Given the description of an element on the screen output the (x, y) to click on. 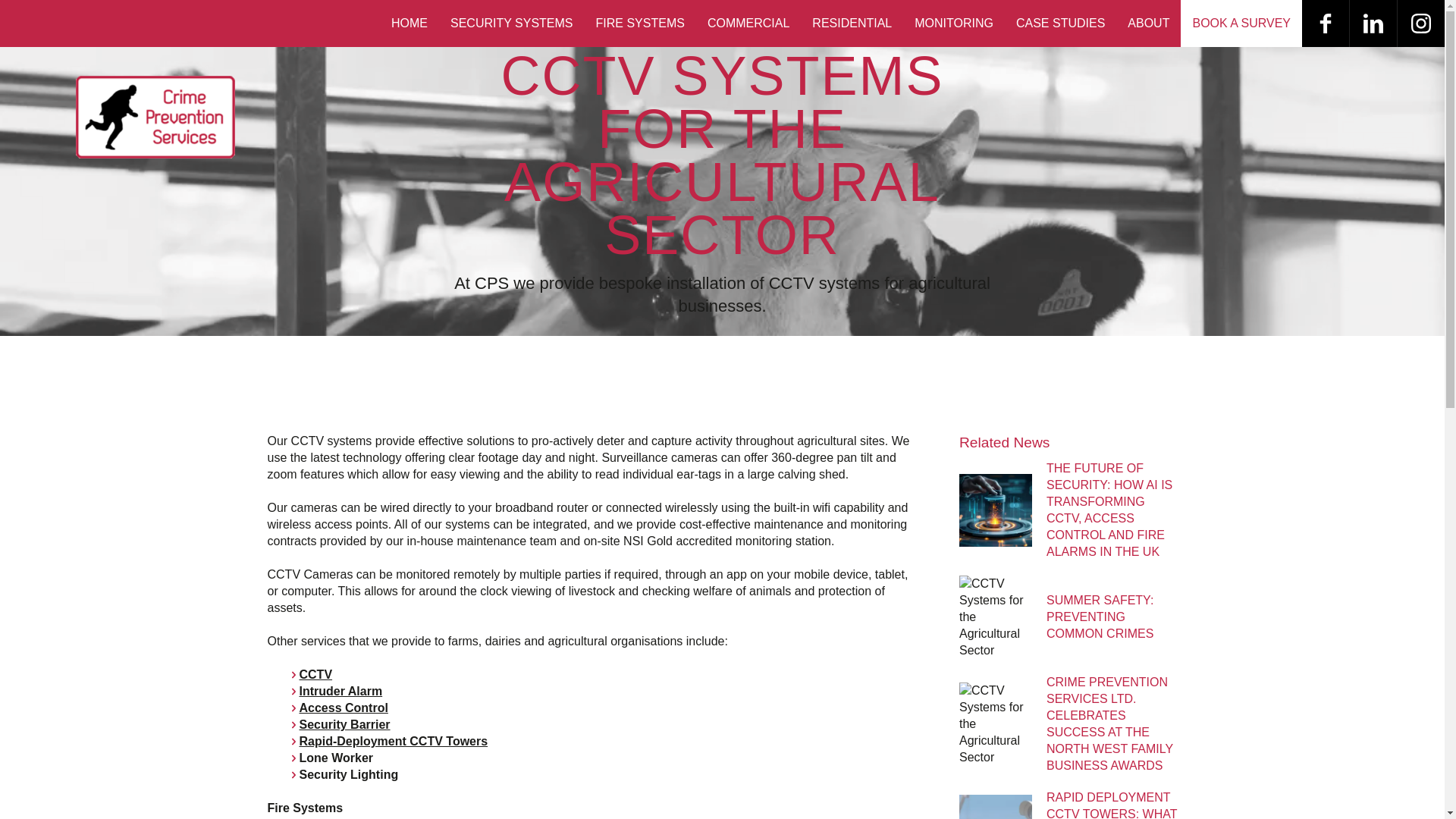
CASE STUDIES (1060, 23)
CCTV (314, 674)
Security Barrier (344, 724)
ABOUT (1148, 23)
SUMMER SAFETY: PREVENTING COMMON CRIMES (1099, 616)
Rapid-Deployment CCTV Towers (392, 740)
HOME (409, 23)
RESIDENTIAL (851, 23)
COMMERCIAL (747, 23)
Intruder Alarm (339, 690)
SECURITY SYSTEMS (512, 23)
BOOK A SURVEY (1240, 23)
